Given the description of an element on the screen output the (x, y) to click on. 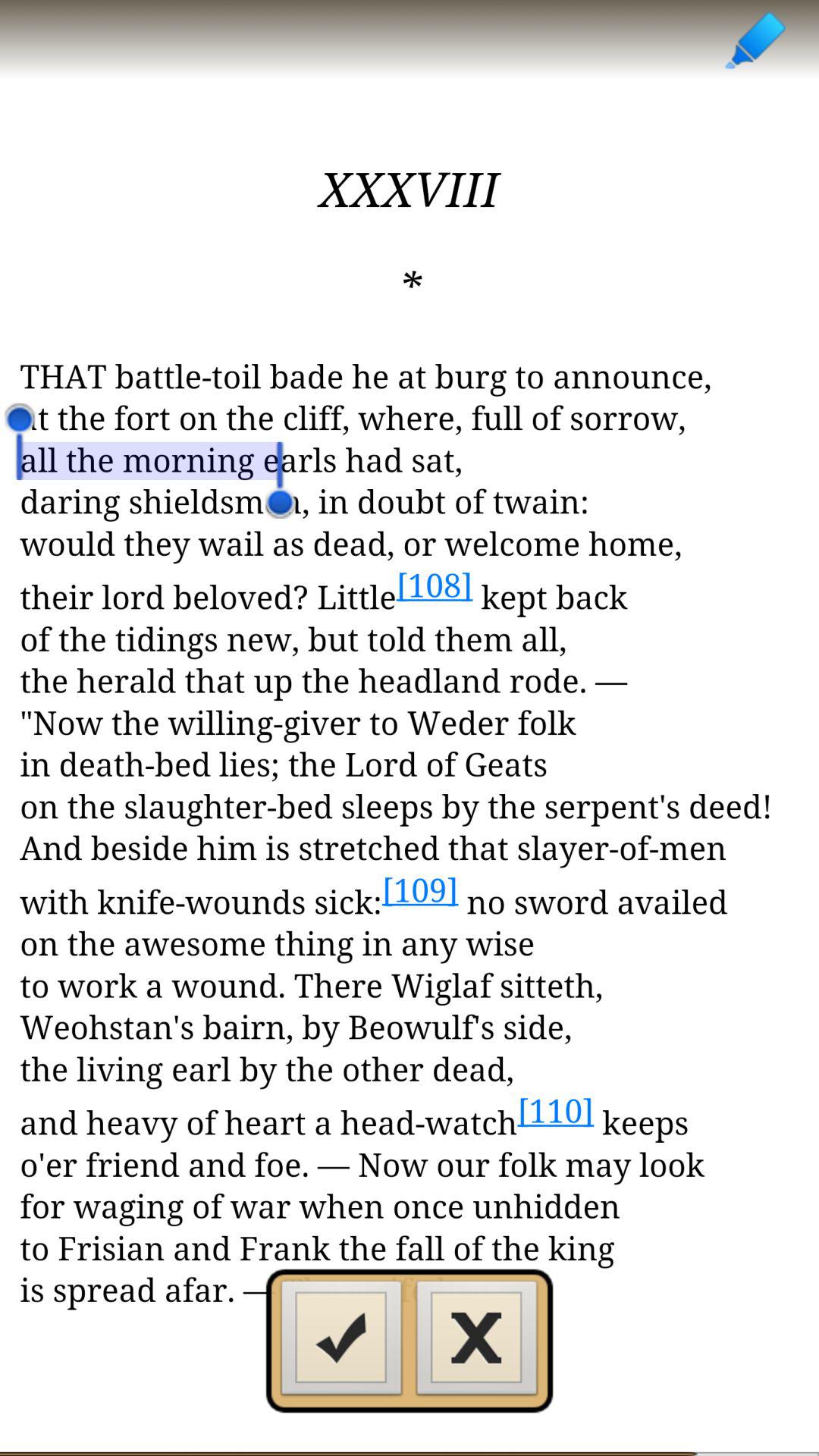
edit (754, 39)
